Given the description of an element on the screen output the (x, y) to click on. 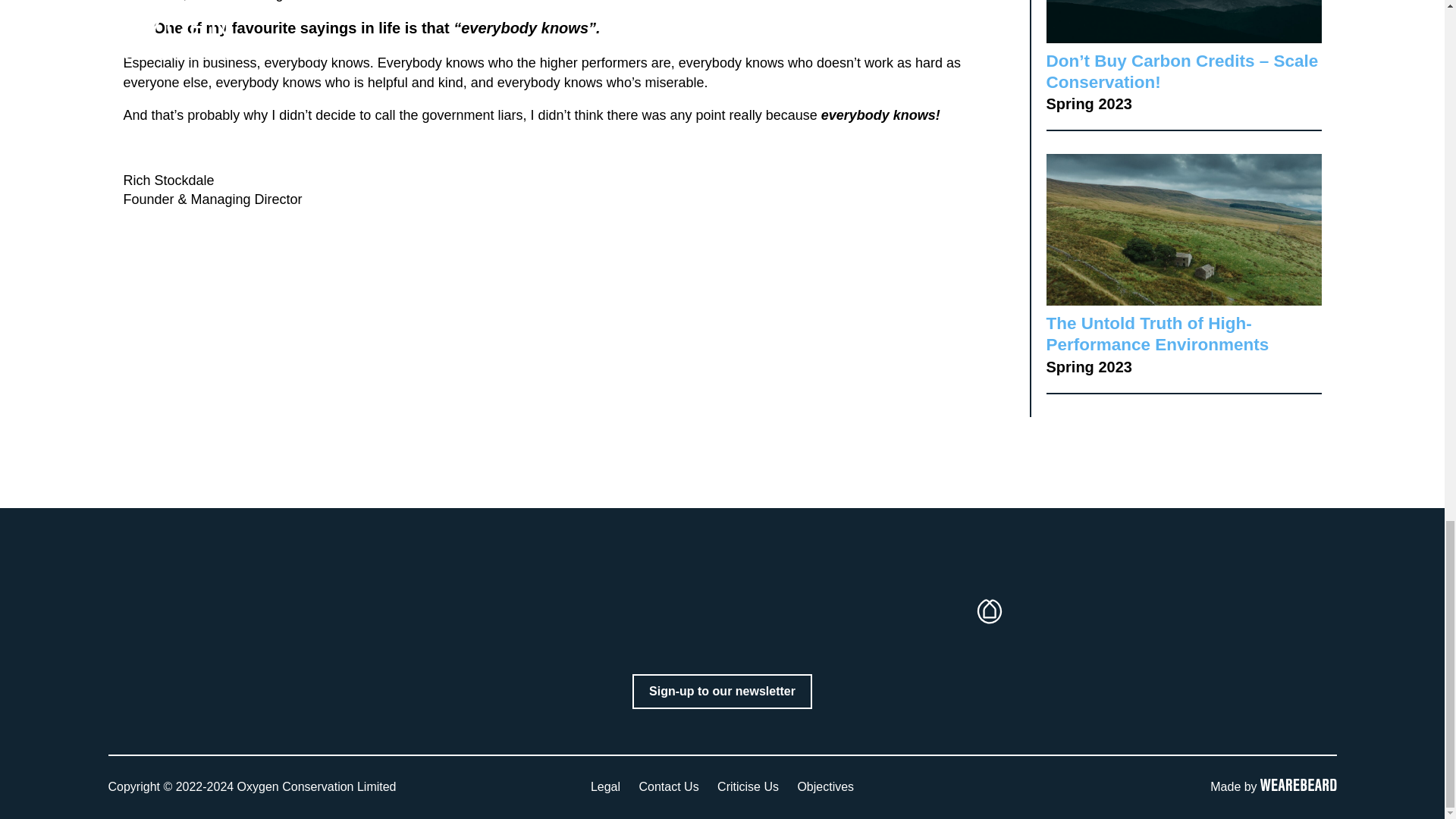
The Untold Truth of High-Performance Environments (1157, 333)
Sign-up to our newsletter (721, 691)
Objectives (824, 786)
Contact Us (668, 786)
Legal (605, 786)
Criticise Us (747, 786)
